Given the description of an element on the screen output the (x, y) to click on. 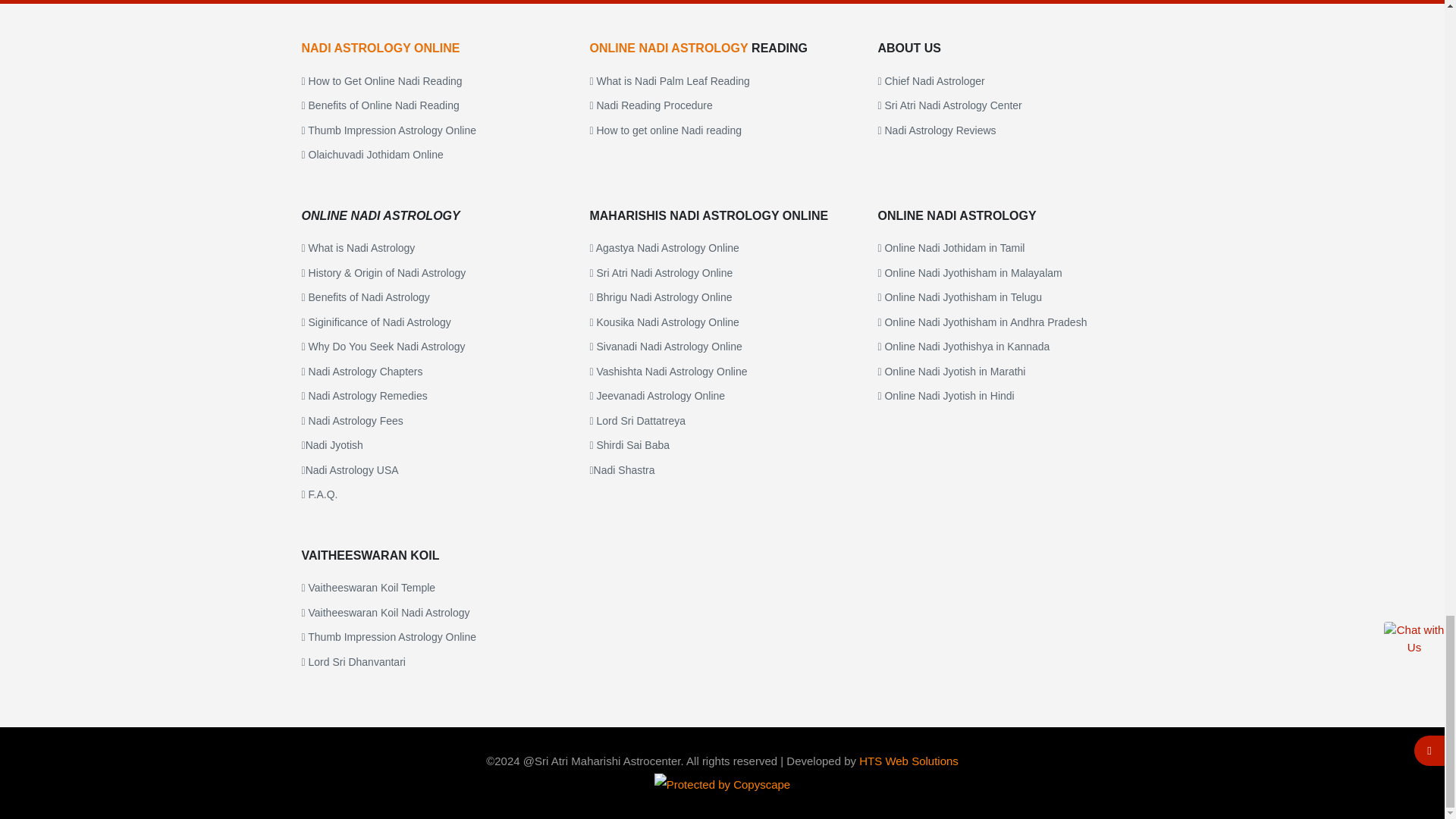
Protected by Copyscape - Do not copy content from this page. (721, 784)
